Given the description of an element on the screen output the (x, y) to click on. 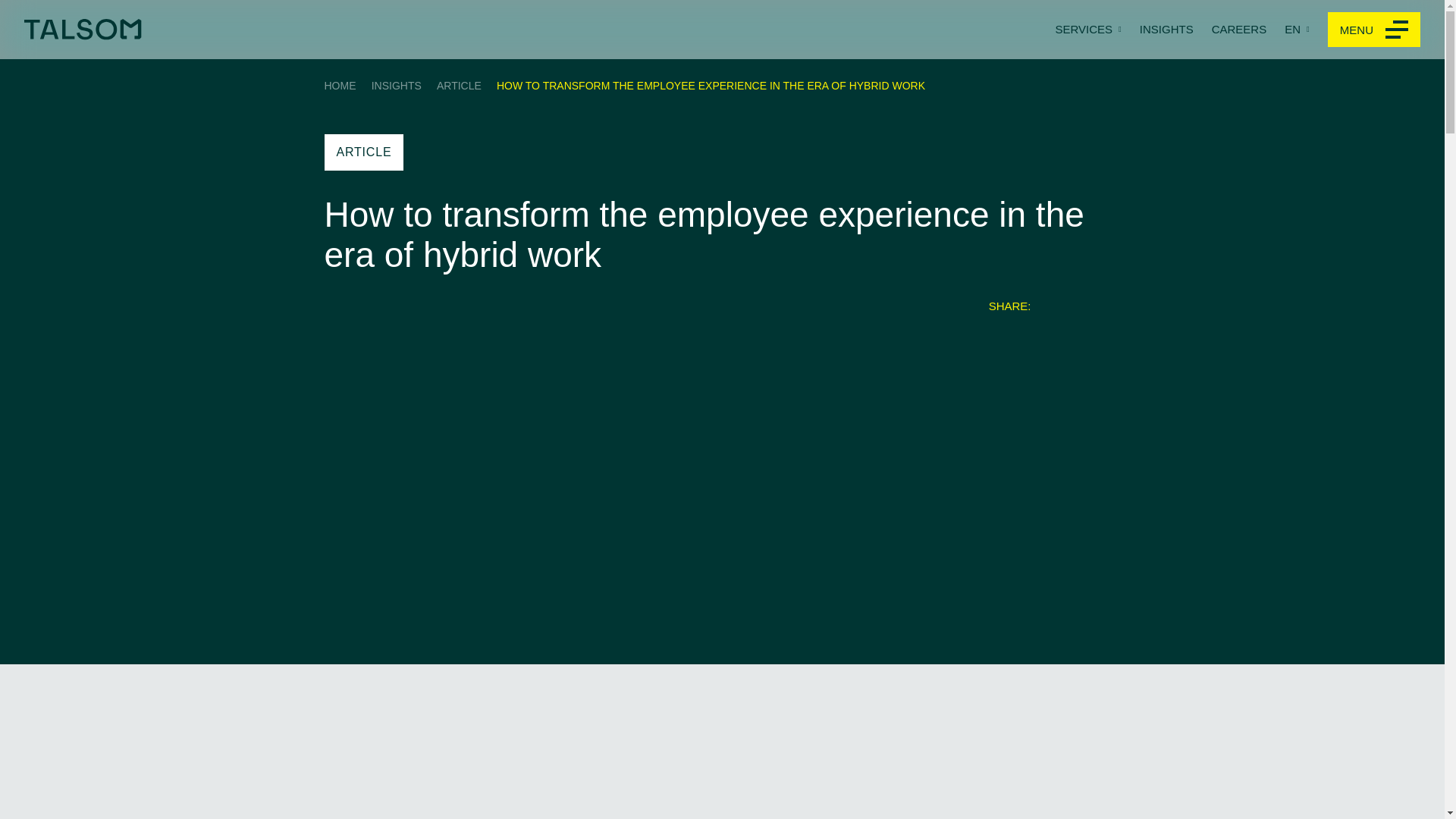
EN (1296, 29)
ARTICLE (363, 151)
INSIGHTS (1166, 29)
INSIGHTS (396, 85)
HOME (340, 85)
ARTICLE (458, 85)
MENU (1374, 29)
SERVICES (1087, 29)
CAREERS (1238, 29)
EN (1296, 29)
